Given the description of an element on the screen output the (x, y) to click on. 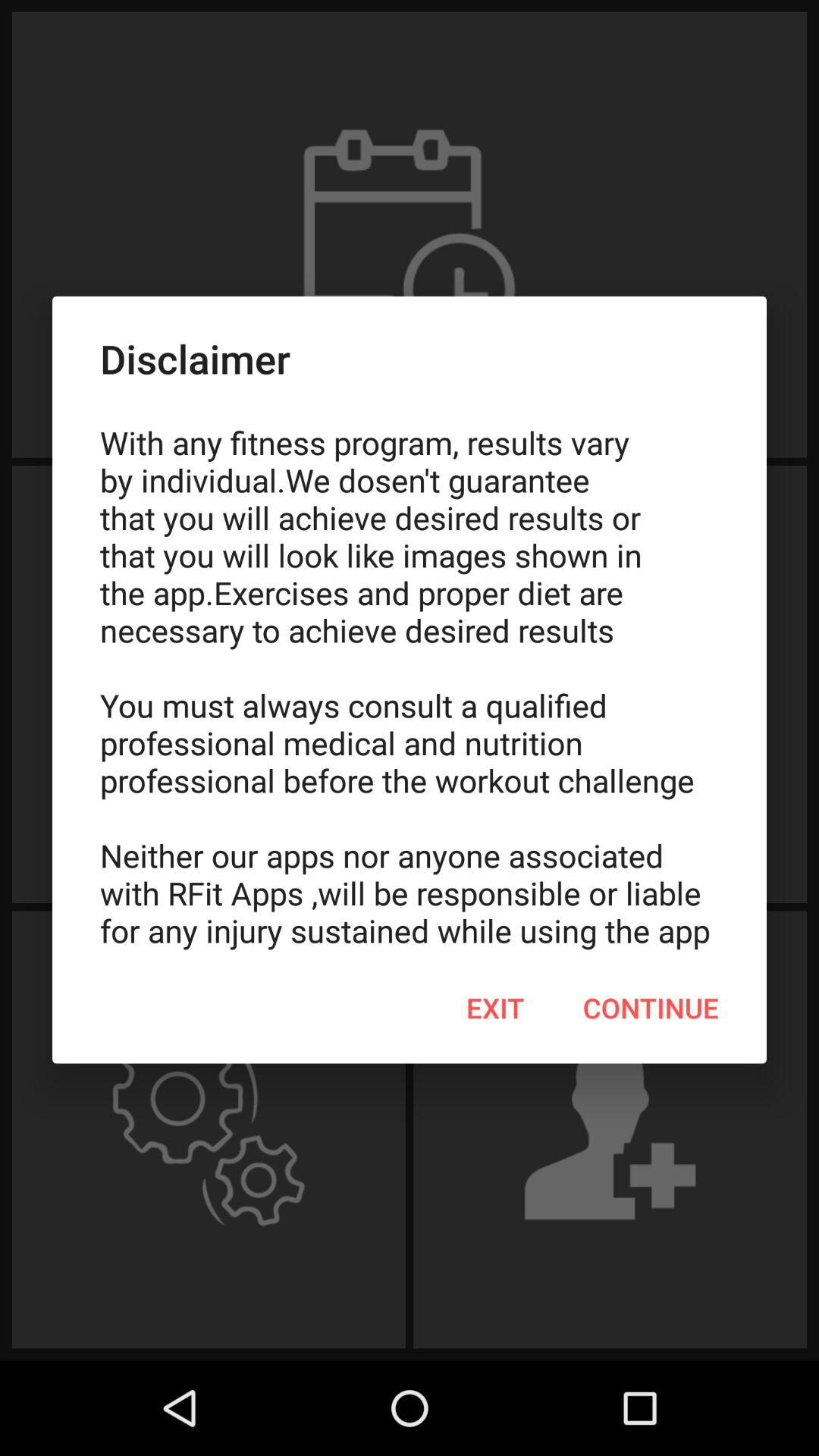
turn off the icon next to exit item (650, 1007)
